Given the description of an element on the screen output the (x, y) to click on. 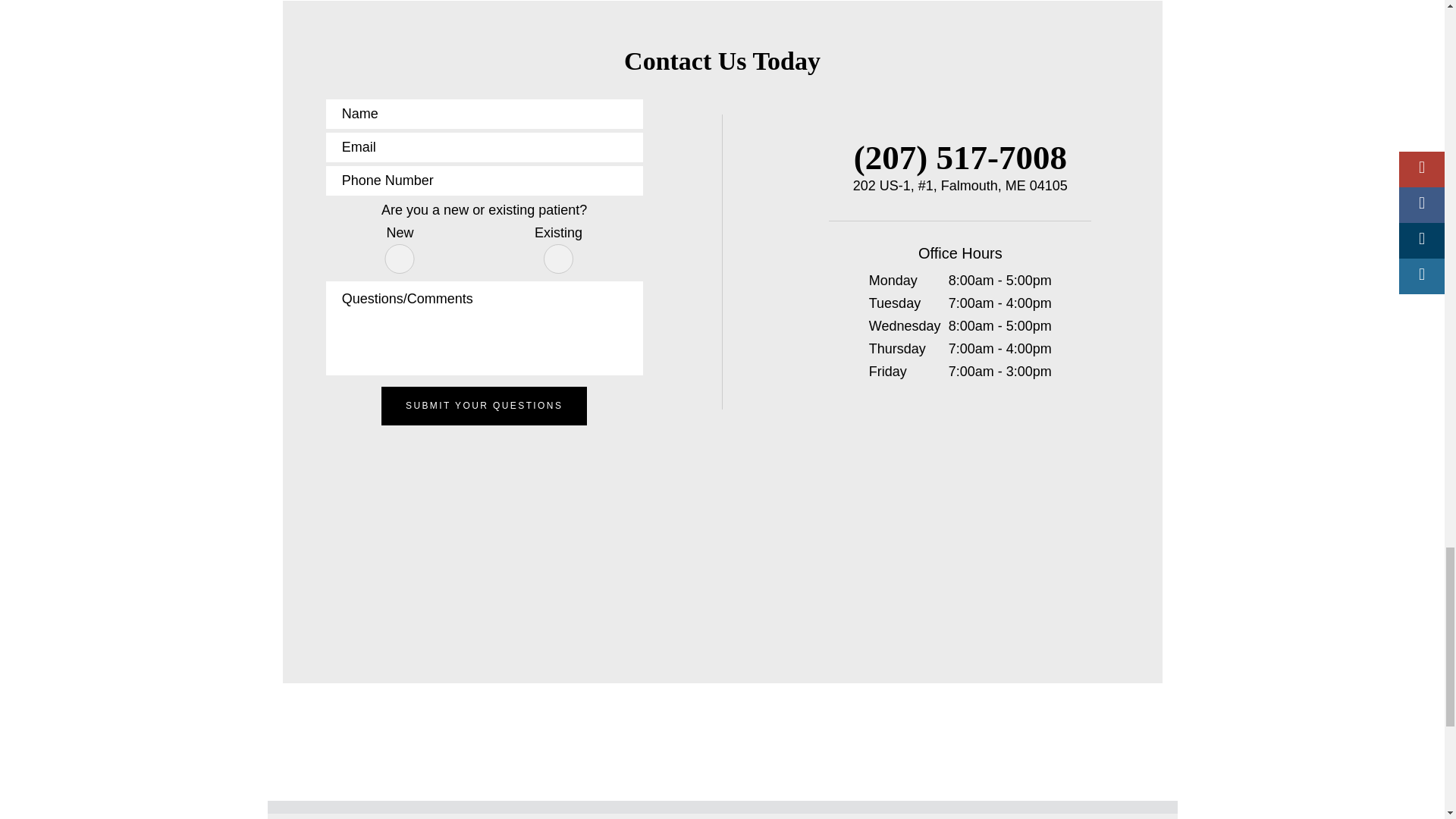
New (399, 258)
Submit Your Questions (483, 405)
Existing (558, 258)
